Given the description of an element on the screen output the (x, y) to click on. 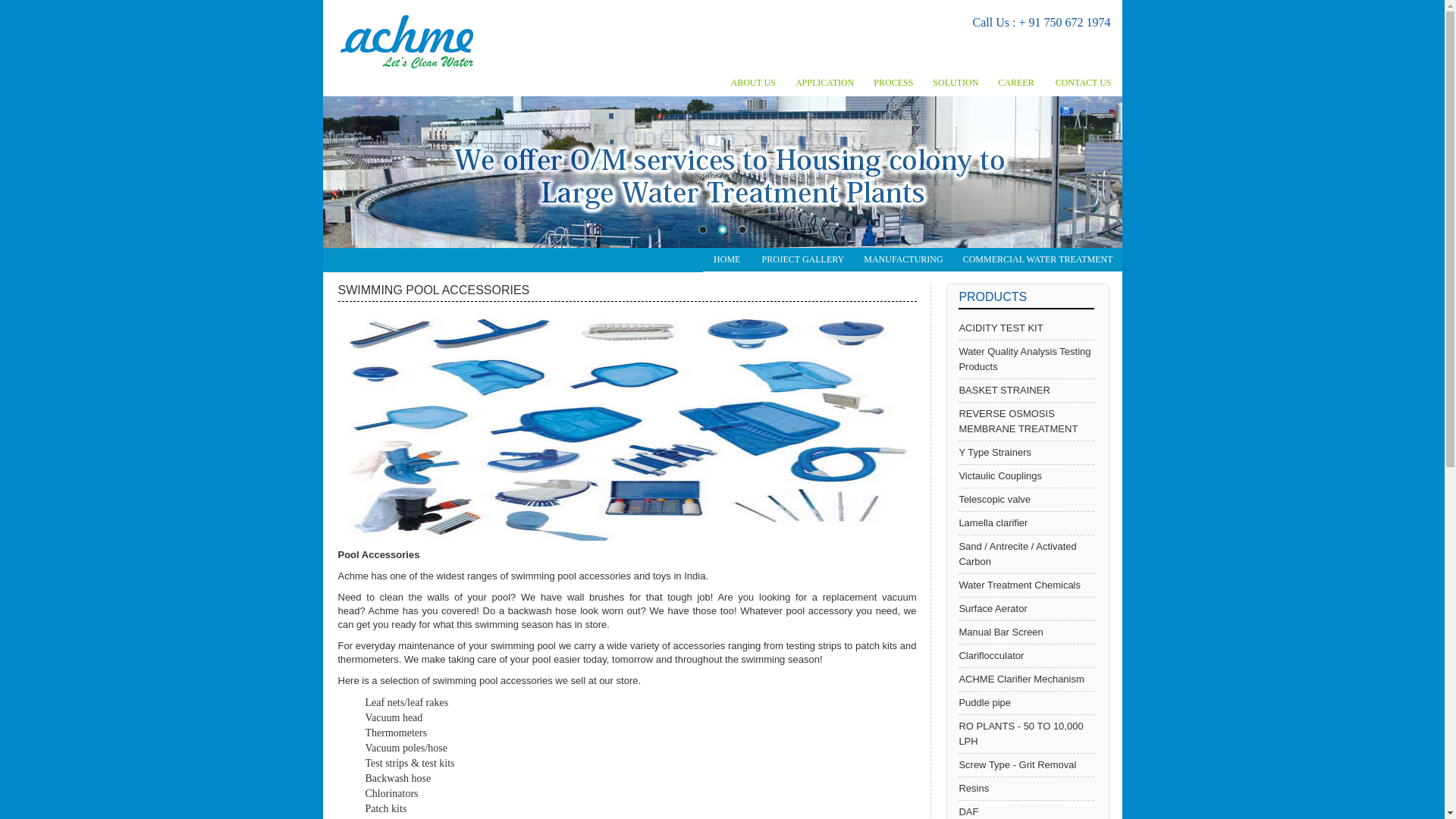
APPLICATION (823, 83)
CAREER (1015, 83)
CONTACT US (1083, 83)
PROCESS (892, 83)
HOME (727, 259)
SOLUTION (954, 83)
ABOUT US (751, 83)
